Given the description of an element on the screen output the (x, y) to click on. 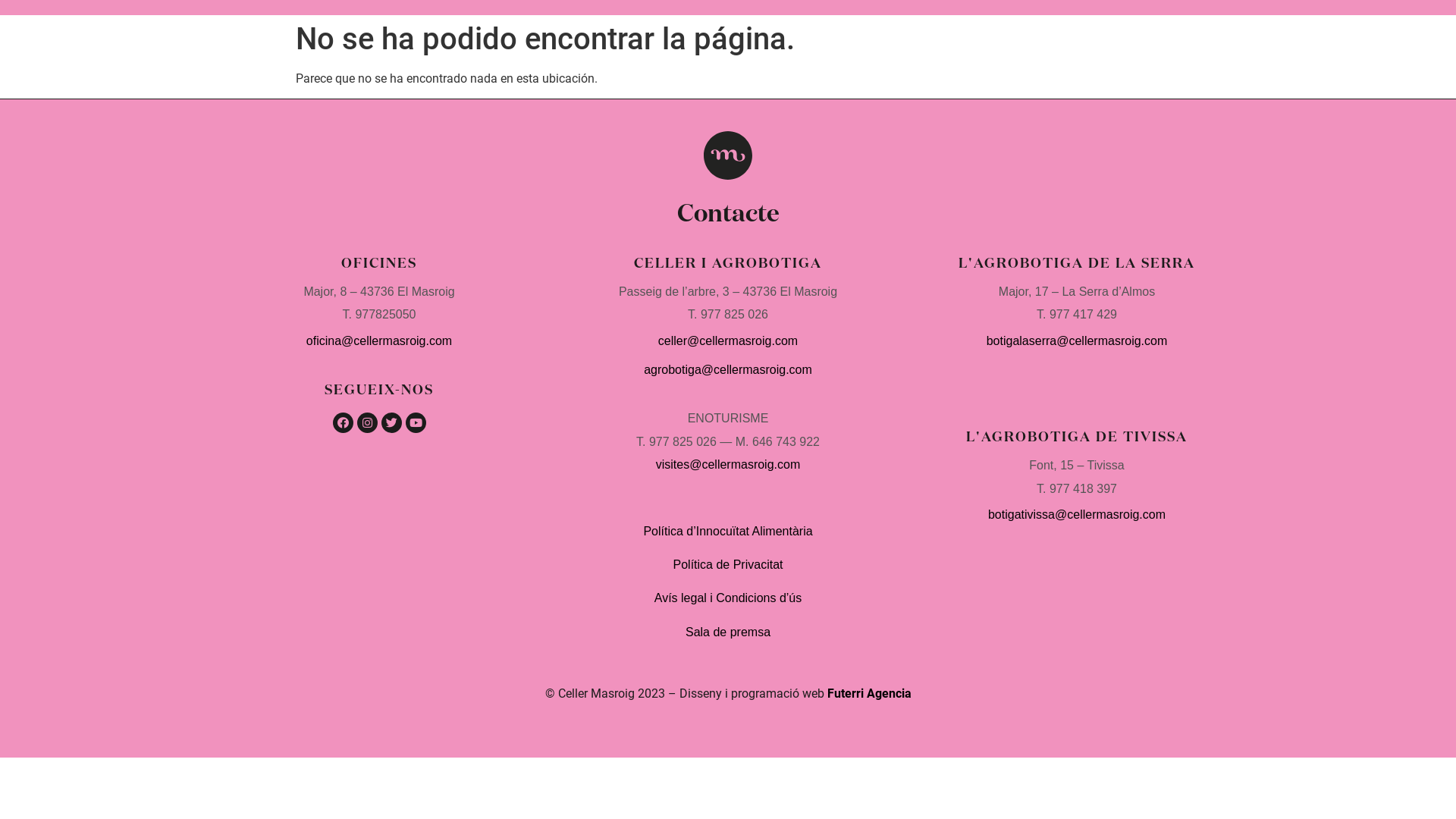
977825050 Element type: text (384, 313)
agrobotiga@cellermasroig.com Element type: text (727, 369)
oficina@cellermasroig.com Element type: text (378, 340)
977 825 026 Element type: text (734, 313)
Futerri Agencia Element type: text (868, 693)
visites@cellermasroig.com Element type: text (727, 464)
977 418 397 Element type: text (1081, 488)
botigalaserra@cellermasroig.com Element type: text (1076, 340)
646 743 922 Element type: text (785, 441)
977 417 429 Element type: text (1083, 313)
botigativissa@cellermasroig.com Element type: text (1076, 514)
celler@cellermasroig.com Element type: text (727, 340)
977 825 026 Element type: text (682, 441)
Sala de premsa Element type: text (727, 631)
